Given the description of an element on the screen output the (x, y) to click on. 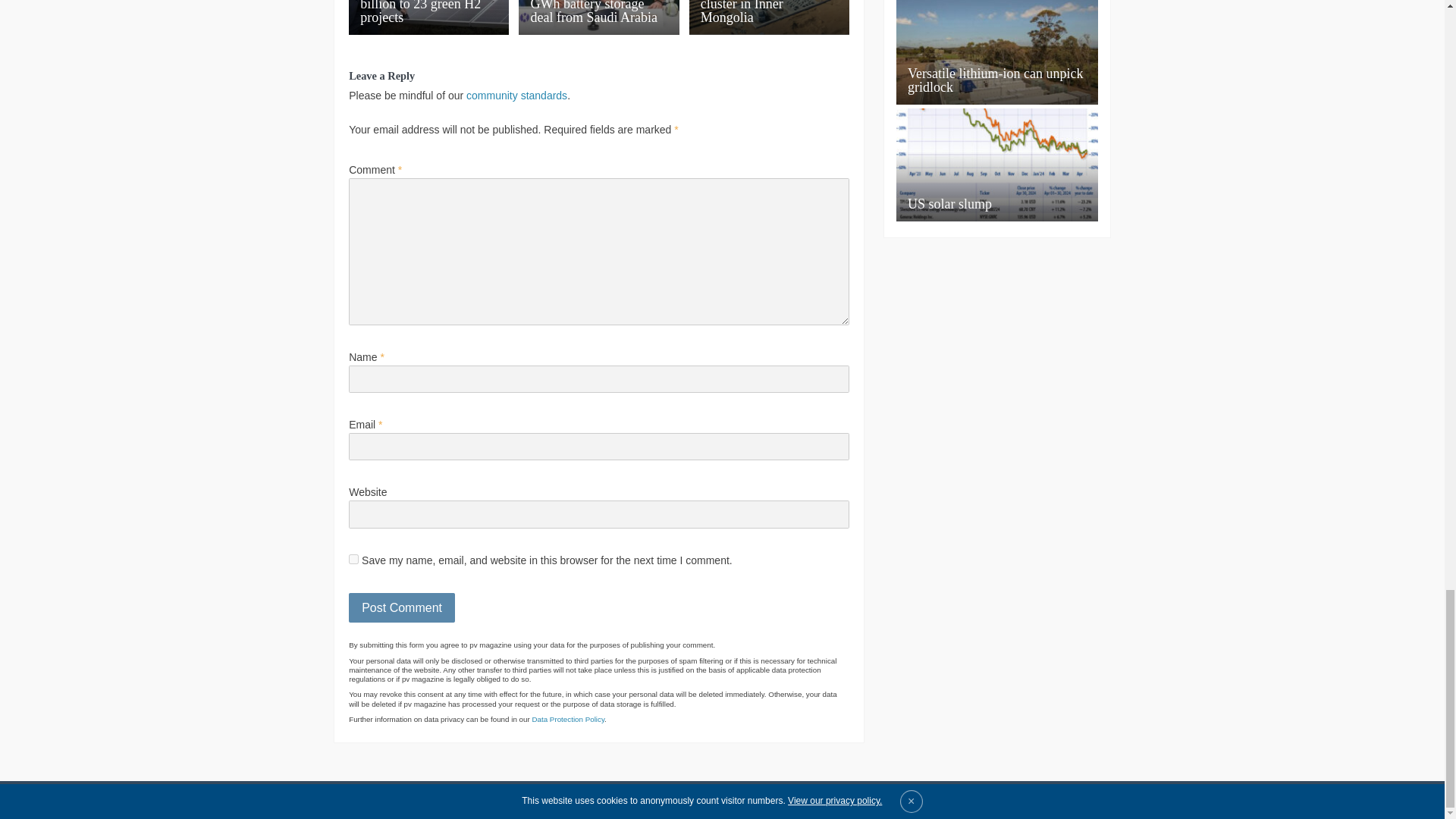
yes (353, 559)
Post Comment (401, 607)
